Given the description of an element on the screen output the (x, y) to click on. 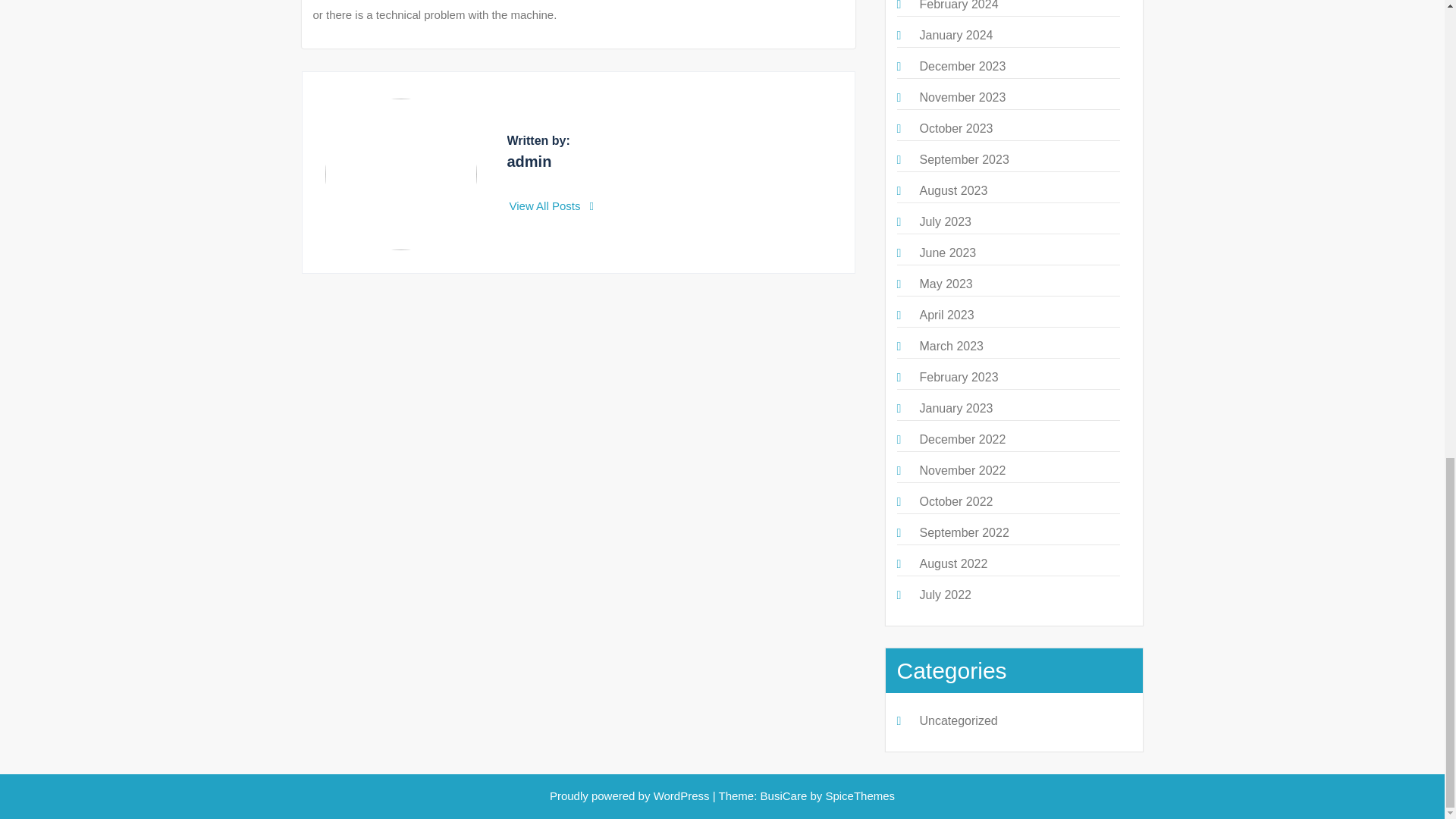
January 2024 (955, 34)
August 2023 (952, 190)
September 2022 (963, 532)
July 2022 (944, 594)
June 2023 (946, 252)
March 2023 (951, 345)
December 2023 (962, 65)
October 2022 (955, 501)
July 2023 (944, 221)
January 2023 (955, 408)
February 2023 (957, 377)
November 2023 (962, 97)
November 2022 (962, 470)
April 2023 (946, 314)
View All Posts (551, 205)
